Given the description of an element on the screen output the (x, y) to click on. 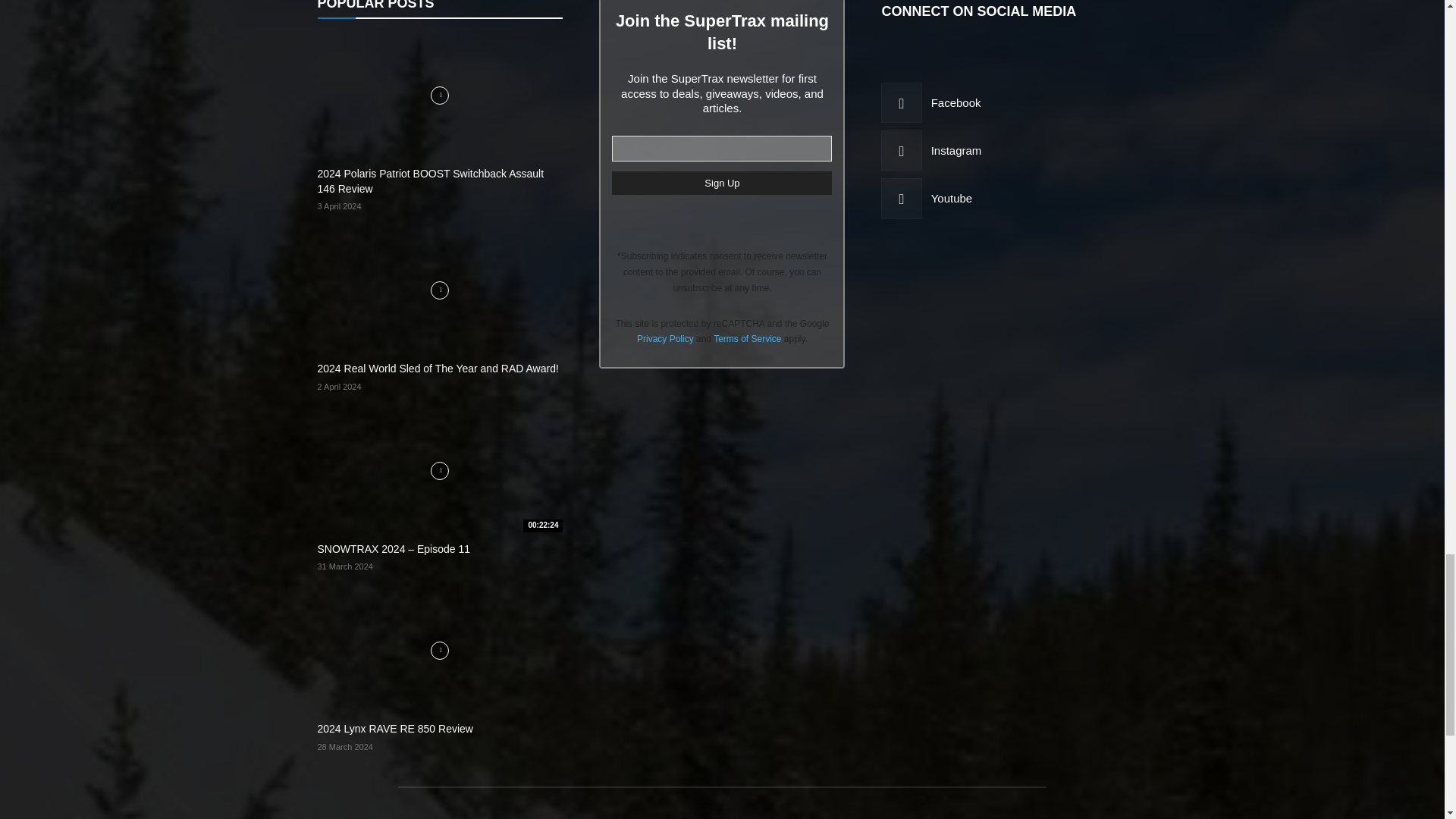
Sign Up (721, 182)
